Given the description of an element on the screen output the (x, y) to click on. 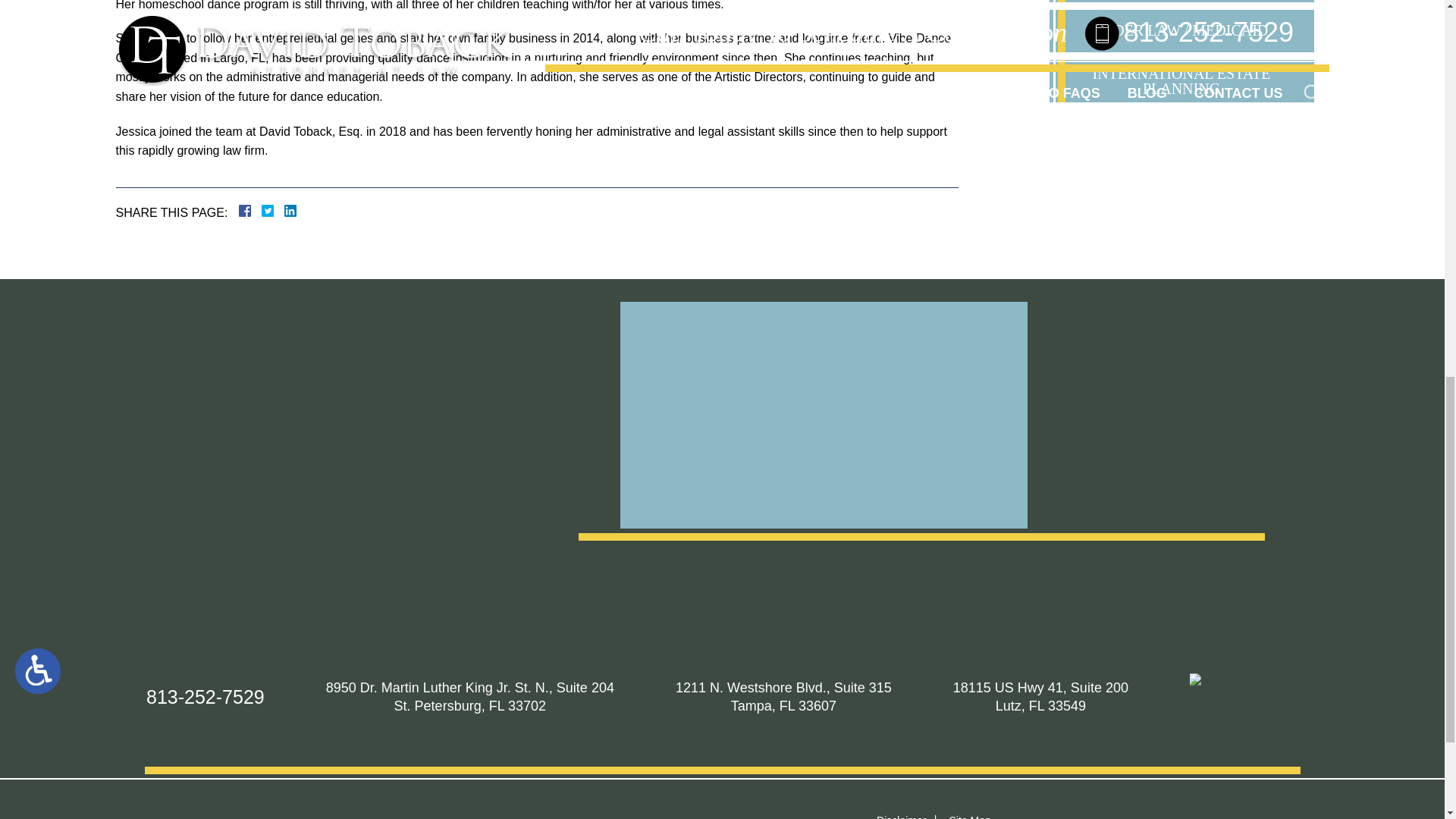
LinkedIn (284, 210)
Twitter (273, 210)
Facebook (262, 210)
